Given the description of an element on the screen output the (x, y) to click on. 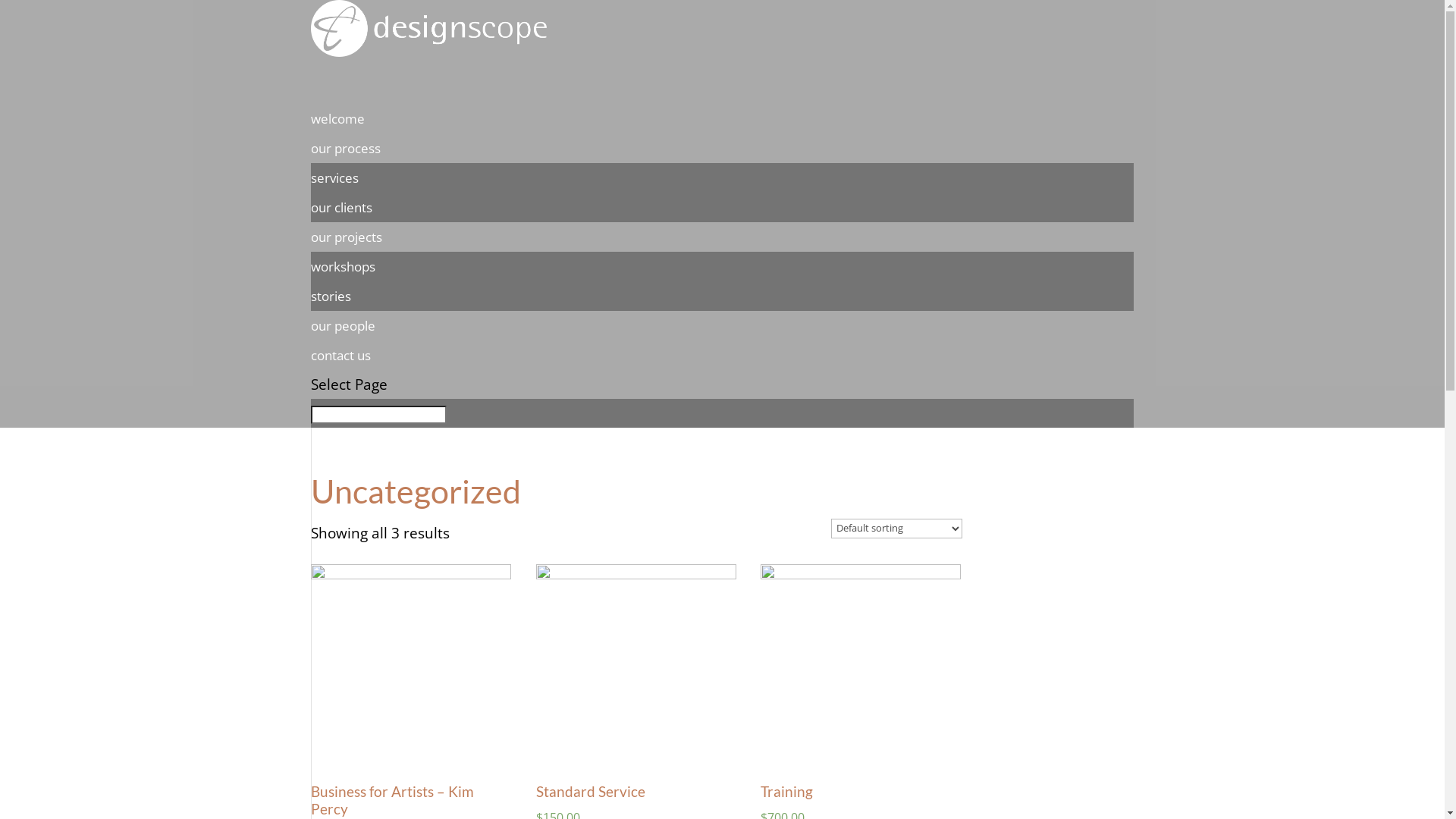
our process Element type: text (345, 166)
Search for: Element type: hover (378, 414)
welcome Element type: text (337, 137)
our projects Element type: text (346, 255)
contact us Element type: text (340, 373)
services Element type: text (334, 177)
stories Element type: text (330, 295)
our people Element type: text (342, 344)
our clients Element type: text (341, 207)
workshops Element type: text (342, 266)
